Given the description of an element on the screen output the (x, y) to click on. 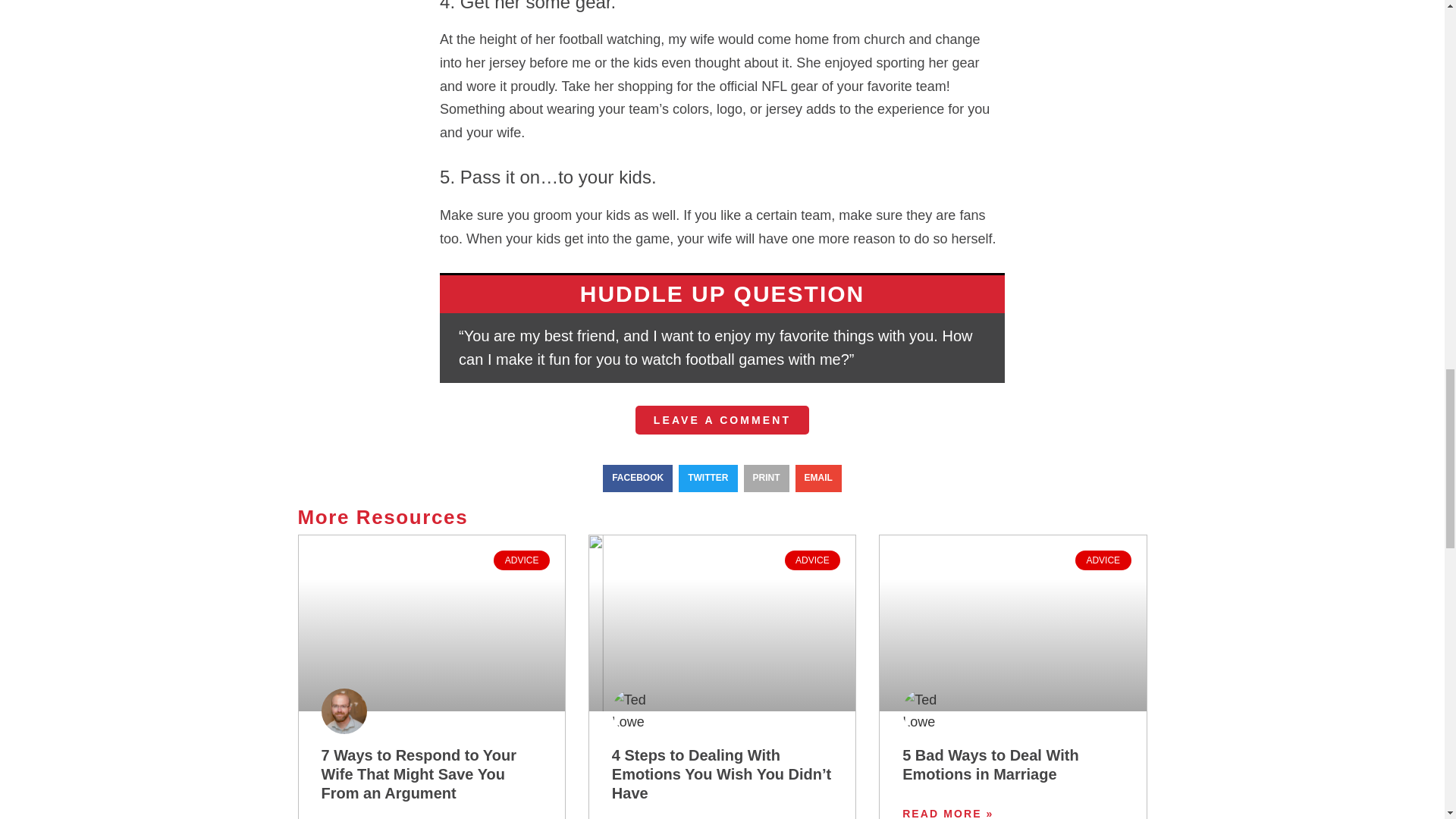
5 Bad Ways to Deal With Emotions in Marriage (990, 764)
LEAVE A COMMENT (721, 419)
